Given the description of an element on the screen output the (x, y) to click on. 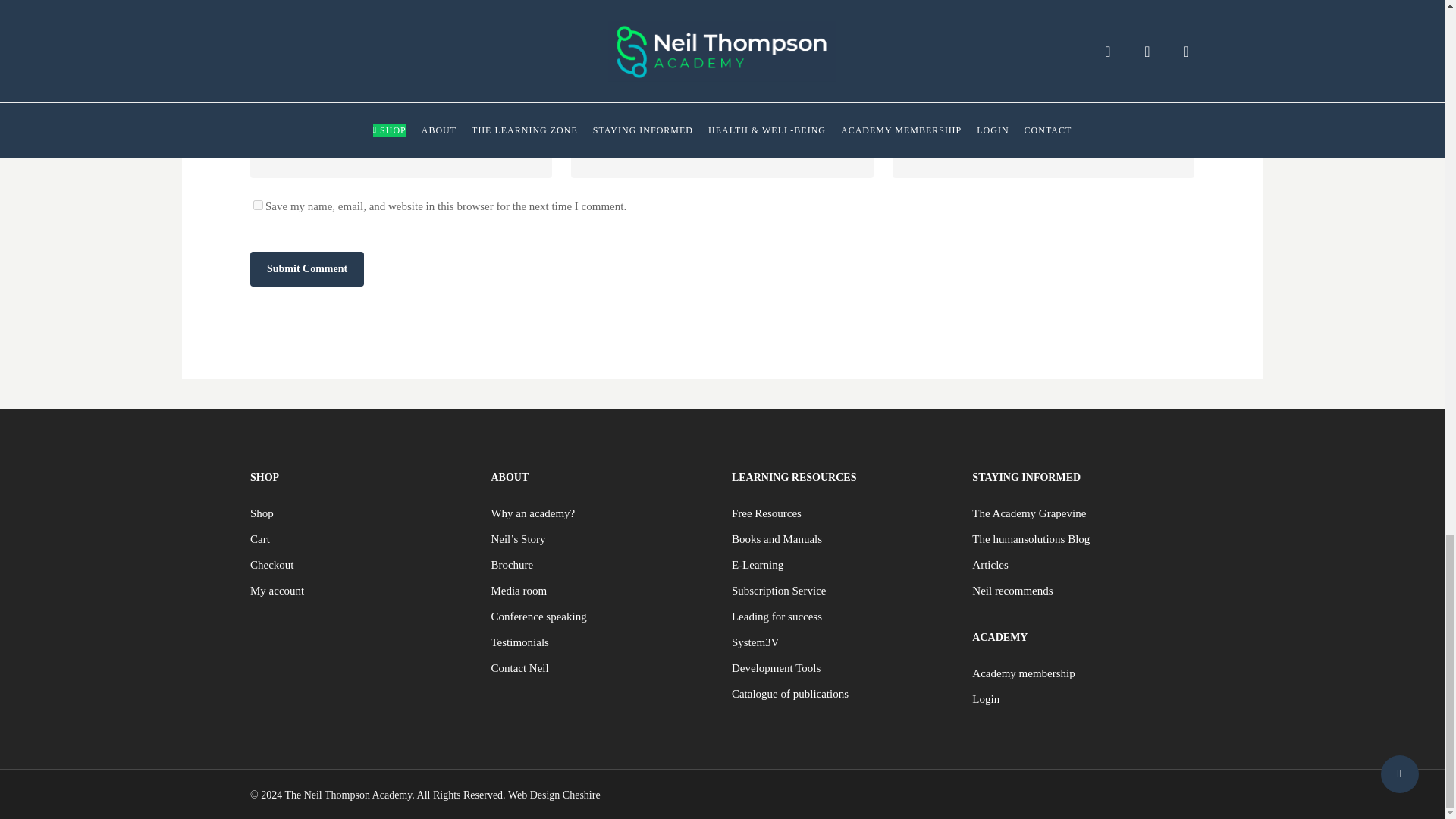
Submit Comment (307, 268)
yes (258, 204)
